Given the description of an element on the screen output the (x, y) to click on. 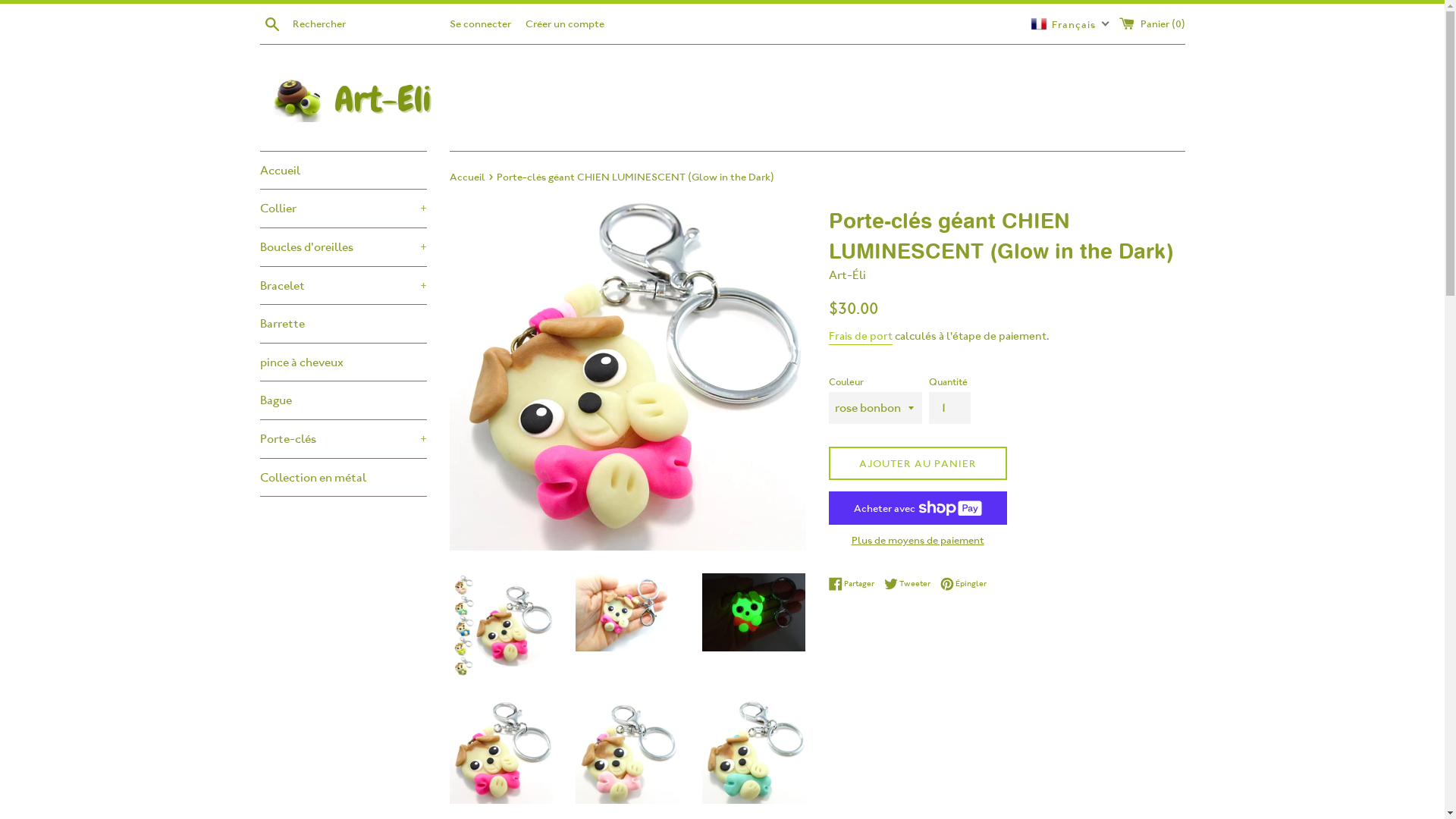
Accueil Element type: text (467, 176)
Plus de moyens de paiement Element type: text (917, 539)
Bague Element type: text (342, 400)
Accueil Element type: text (342, 170)
Se connecter Element type: text (479, 22)
Barrette Element type: text (342, 323)
Tweeter
Tweeter sur Twitter Element type: text (911, 583)
Partager
Partager sur Facebook Element type: text (854, 583)
Boucles d'oreilles
+ Element type: text (342, 247)
Bracelet
+ Element type: text (342, 285)
AJOUTER AU PANIER Element type: text (917, 463)
Frais de port Element type: text (859, 337)
Panier (0) Element type: text (1152, 22)
Recherche Element type: text (271, 22)
Collier
+ Element type: text (342, 208)
